Given the description of an element on the screen output the (x, y) to click on. 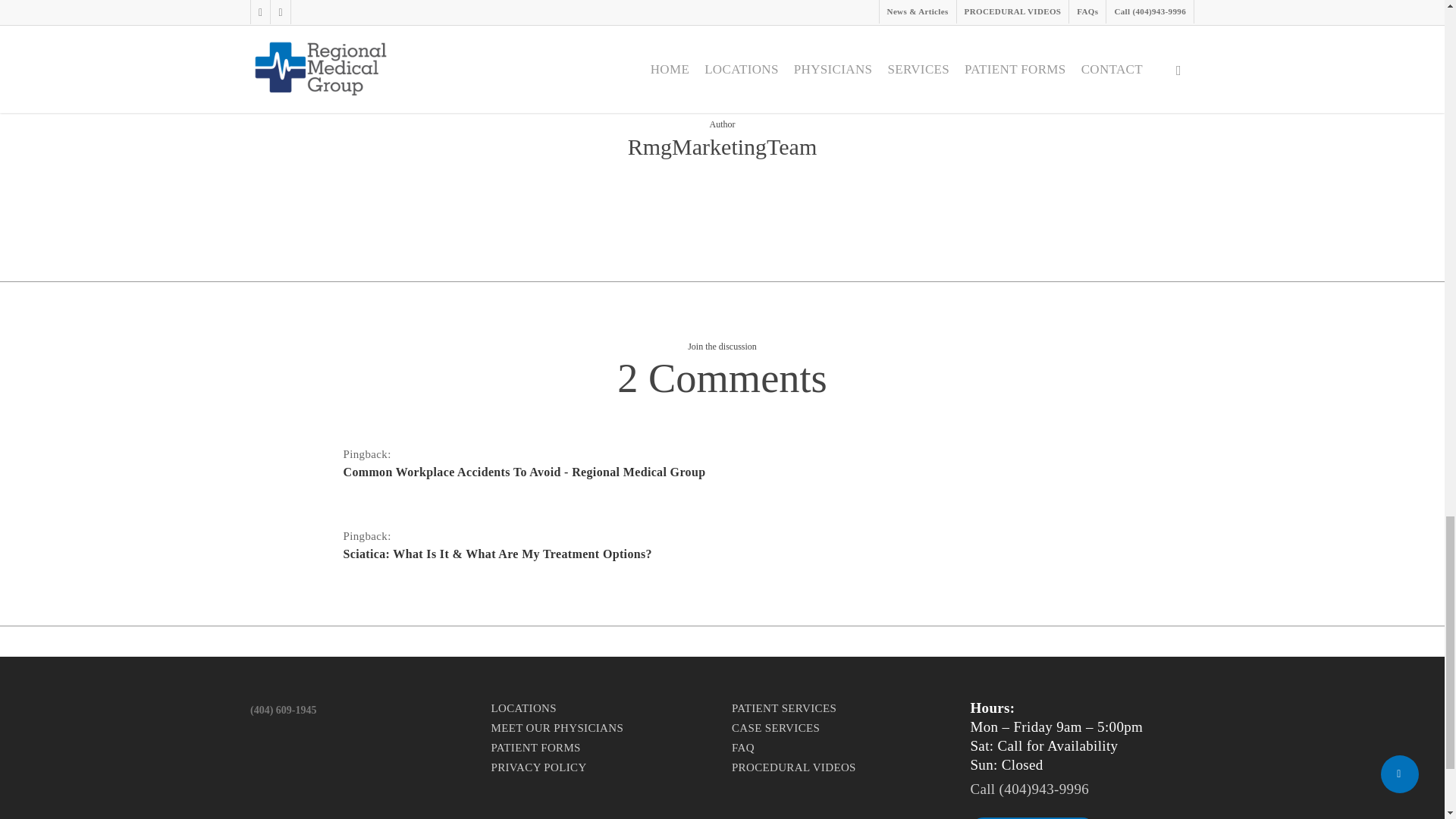
More posts by RmgMarketingTeam (721, 200)
Common Workplace Accidents To Avoid - Regional Medical Group (711, 472)
LOCATIONS (601, 707)
MEET OUR PHYSICIANS (601, 727)
PATIENT FORMS (601, 747)
